Given the description of an element on the screen output the (x, y) to click on. 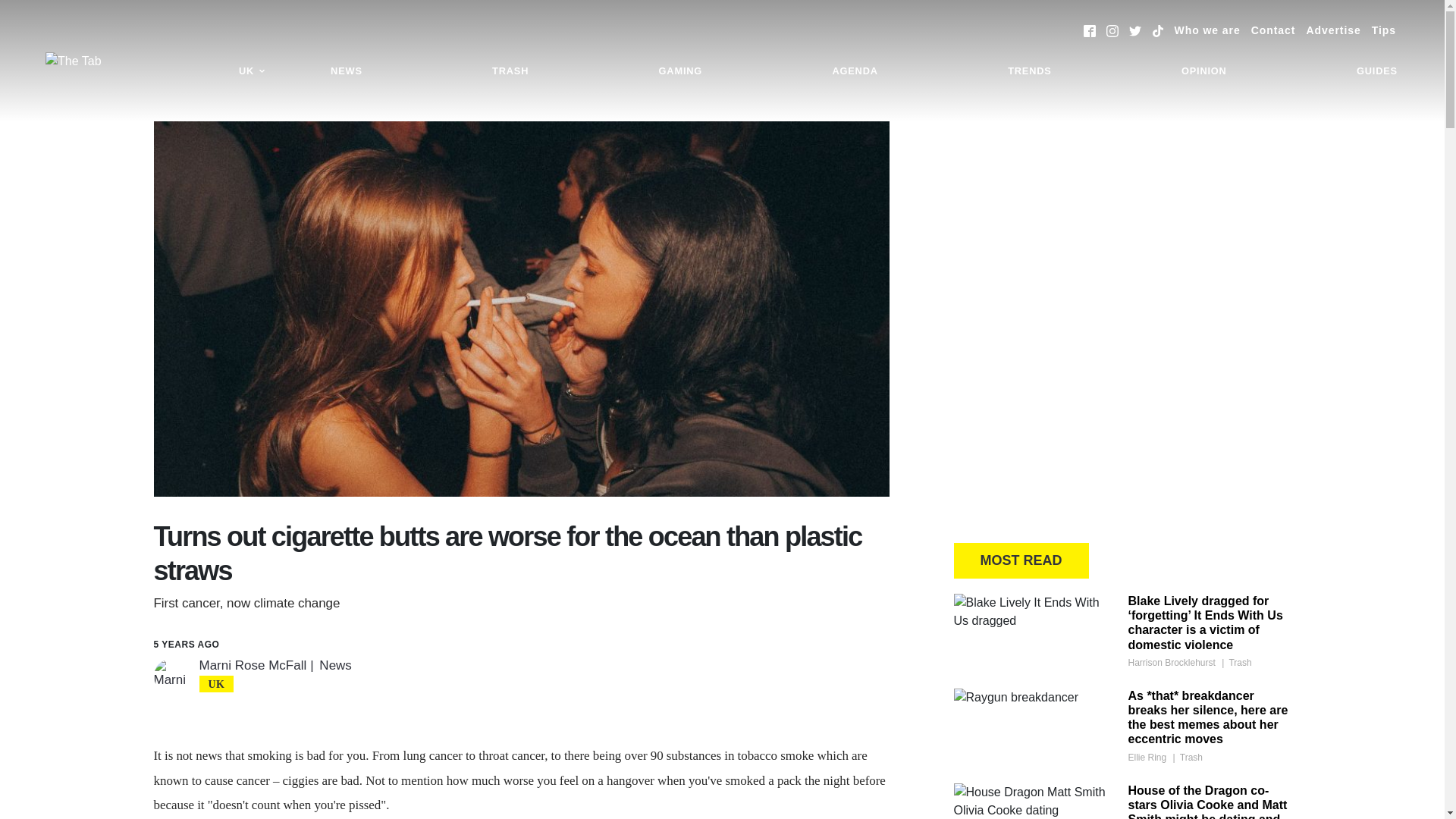
NEWS (346, 71)
OPINION (1204, 71)
TRENDS (1028, 71)
TRASH (510, 71)
Advertise (1332, 29)
AGENDA (854, 71)
GAMING (680, 71)
Tips (1383, 29)
Who we are (1207, 29)
GUIDES (1377, 71)
